Given the description of an element on the screen output the (x, y) to click on. 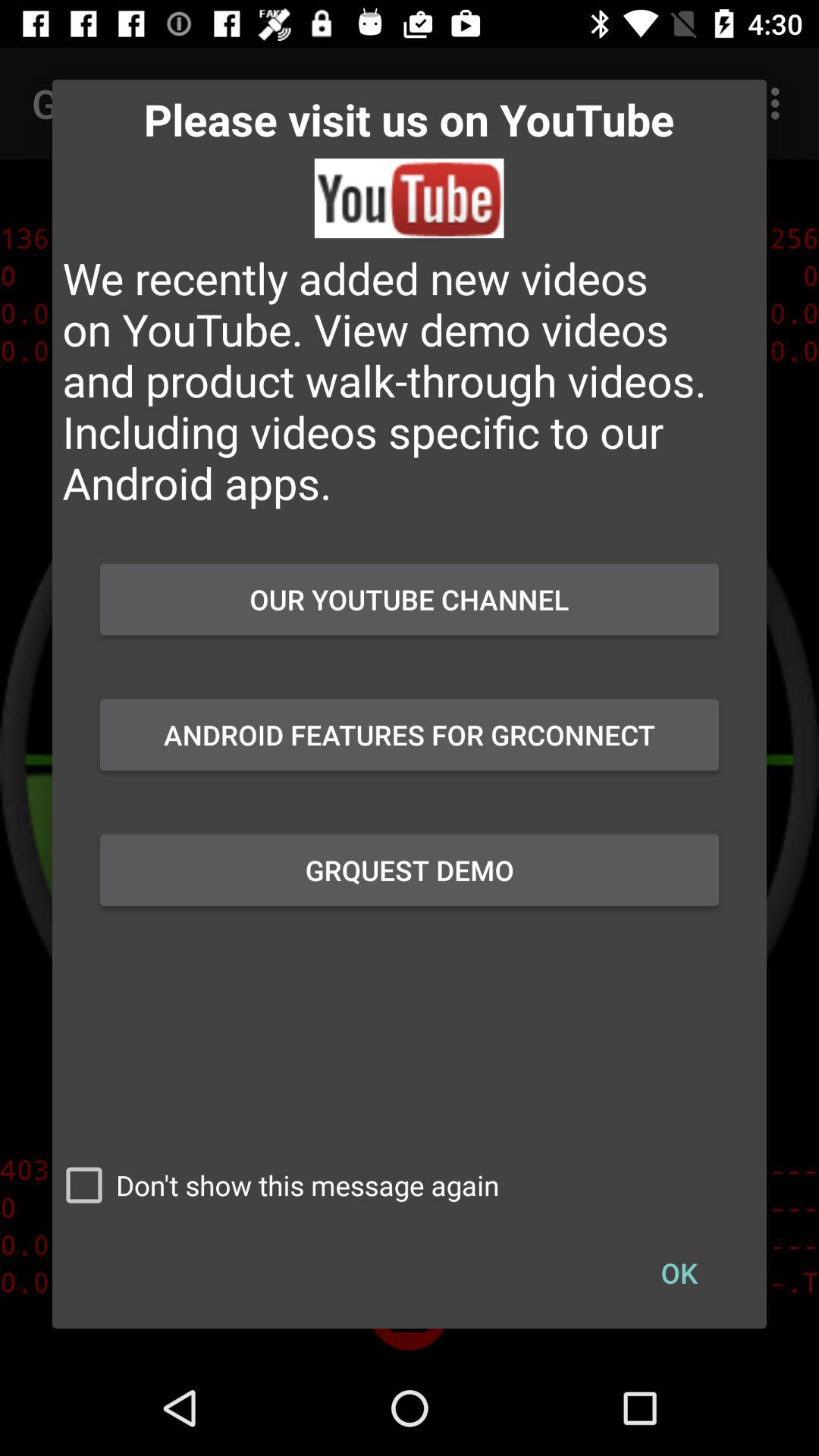
press button next to the ok item (275, 1185)
